Given the description of an element on the screen output the (x, y) to click on. 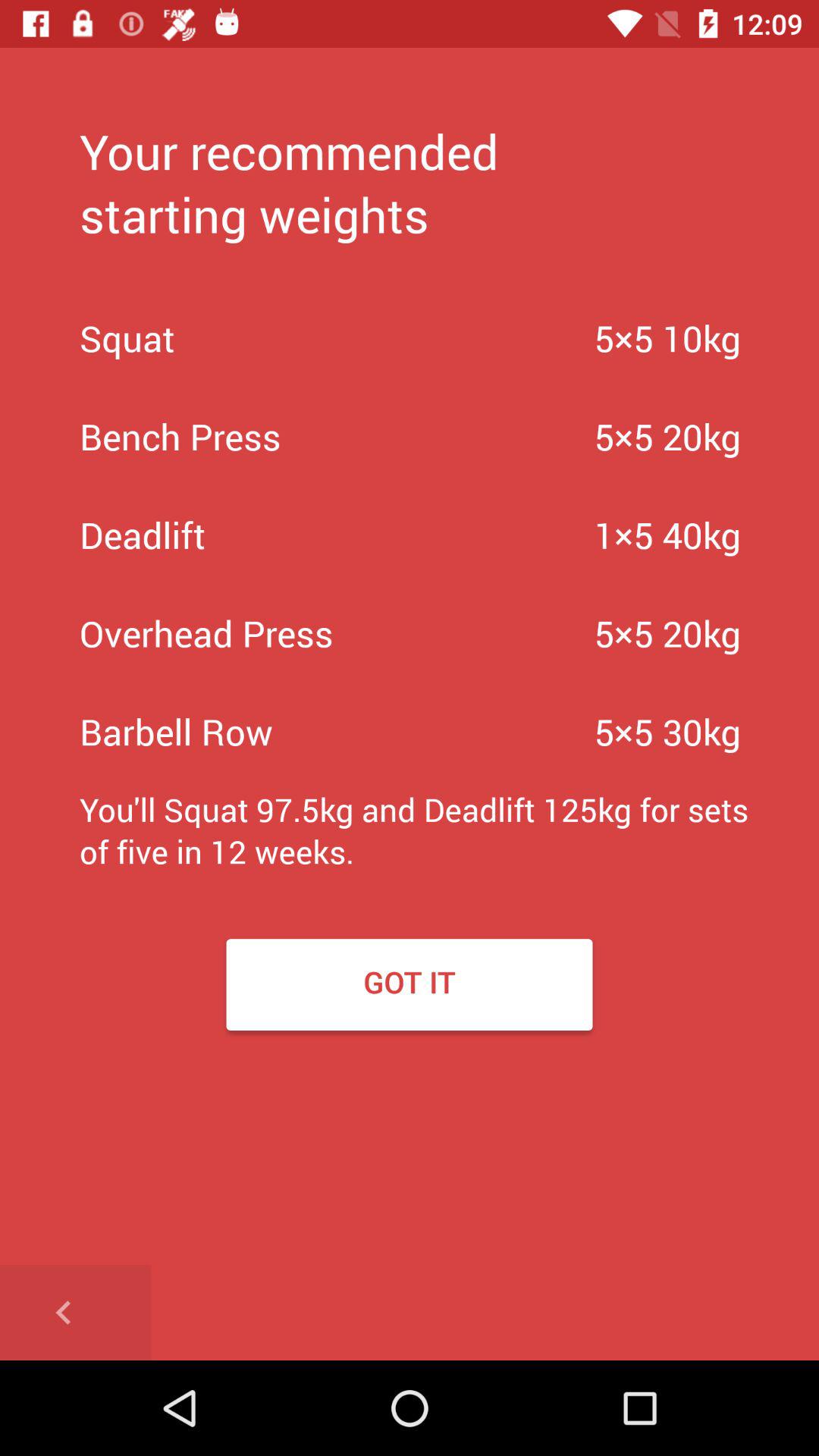
goes back (75, 1312)
